Given the description of an element on the screen output the (x, y) to click on. 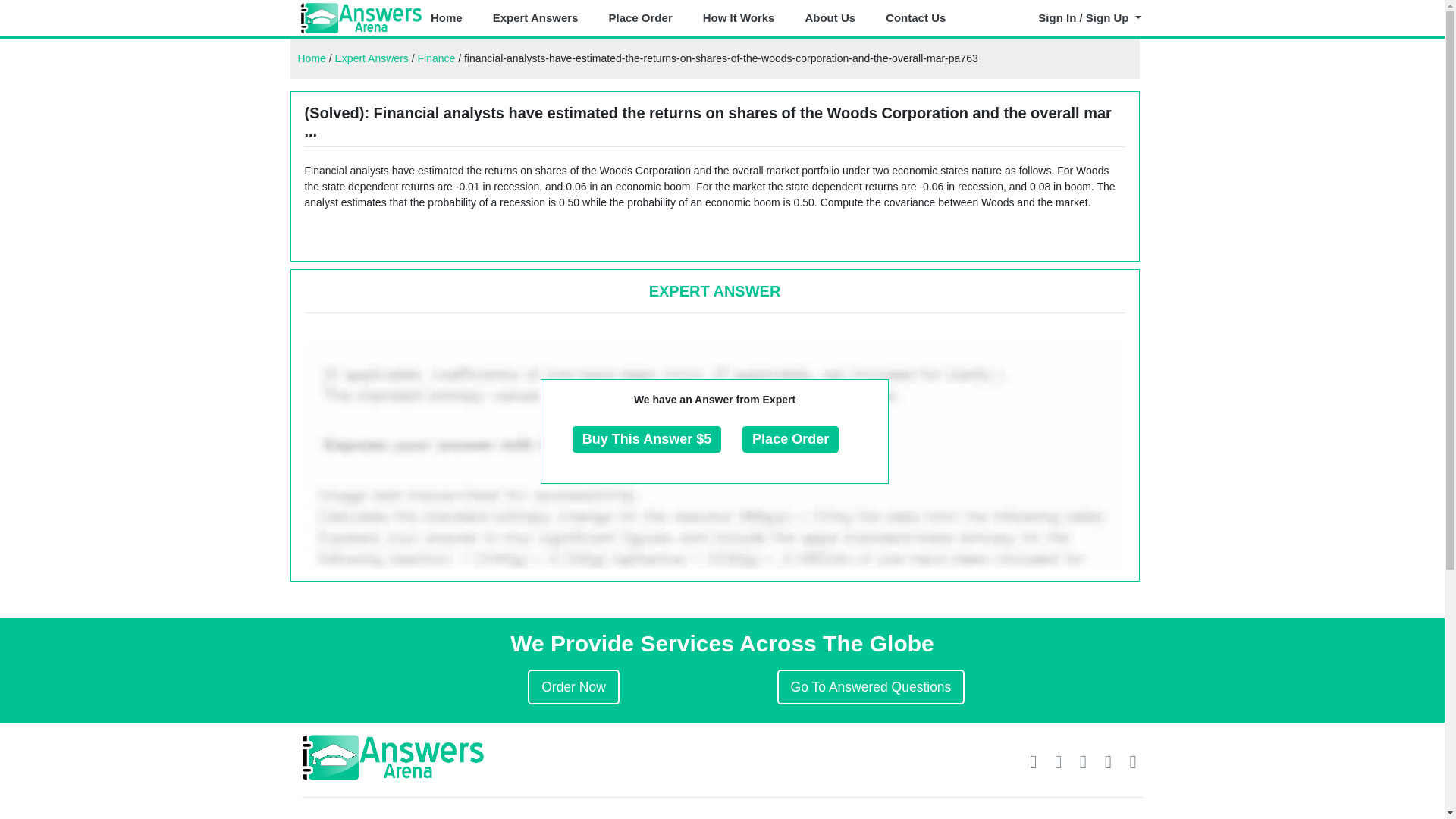
How It Works (738, 18)
Home (310, 58)
Finance (435, 58)
Expert Answers (535, 18)
Place Order (640, 18)
Contact Us (915, 18)
About Us (829, 18)
Expert Answers (371, 58)
Go To Answered Questions (871, 686)
Order Now (573, 686)
